Given the description of an element on the screen output the (x, y) to click on. 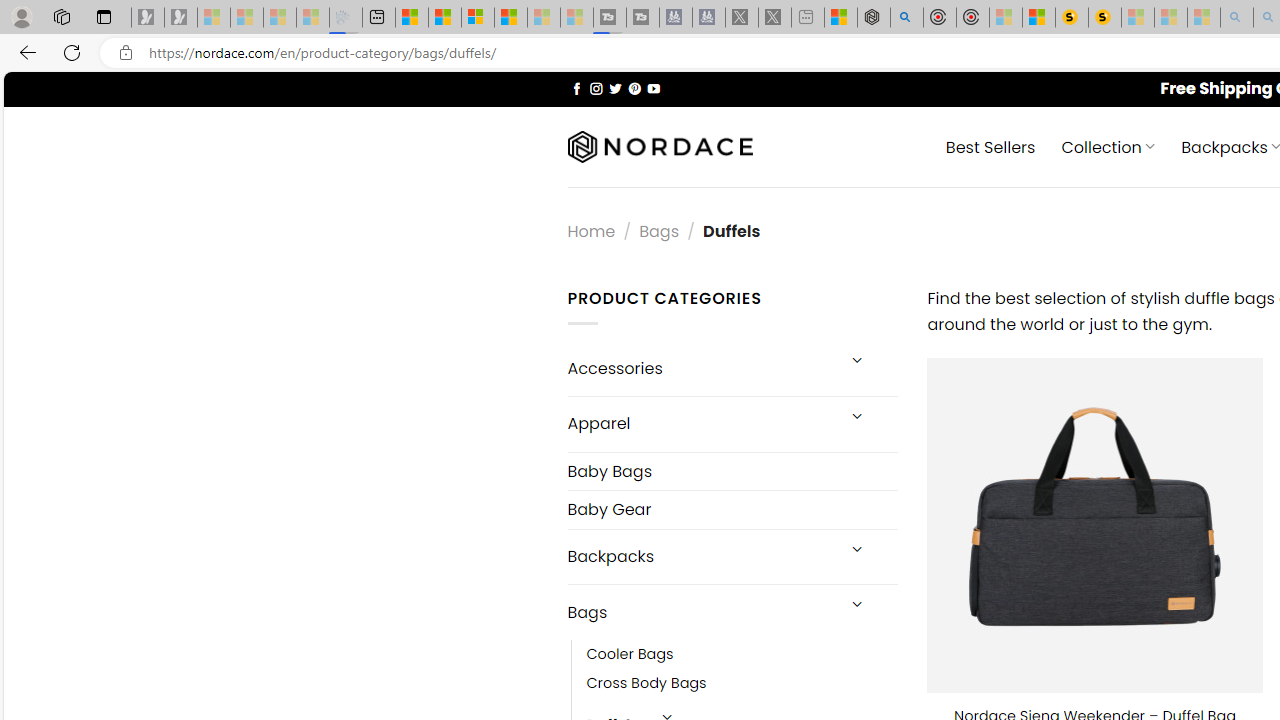
Microsoft Start - Sleeping (543, 17)
  Best Sellers (989, 146)
